Given the description of an element on the screen output the (x, y) to click on. 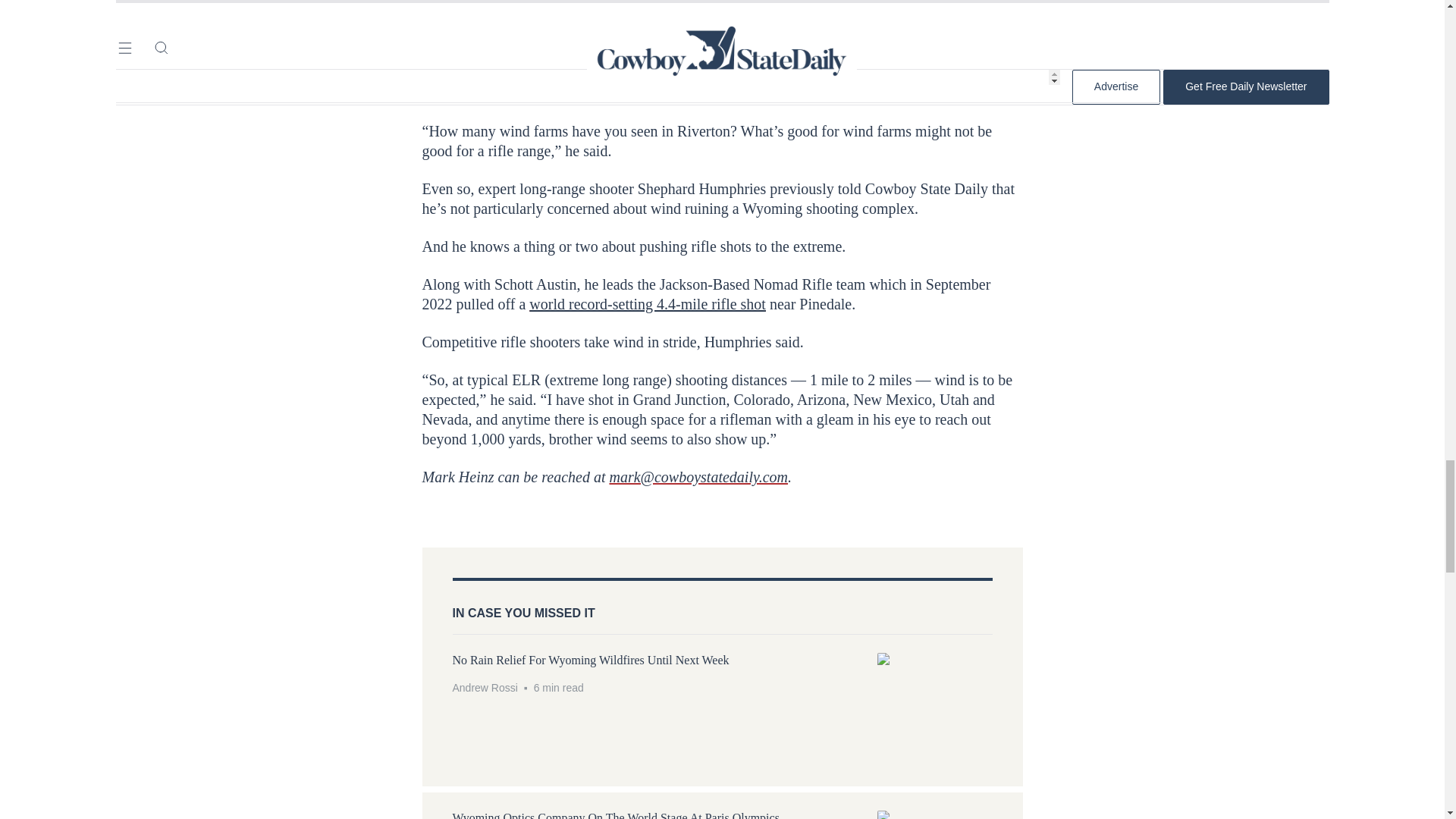
world record-setting 4.4-mile rifle shot (647, 303)
